Given the description of an element on the screen output the (x, y) to click on. 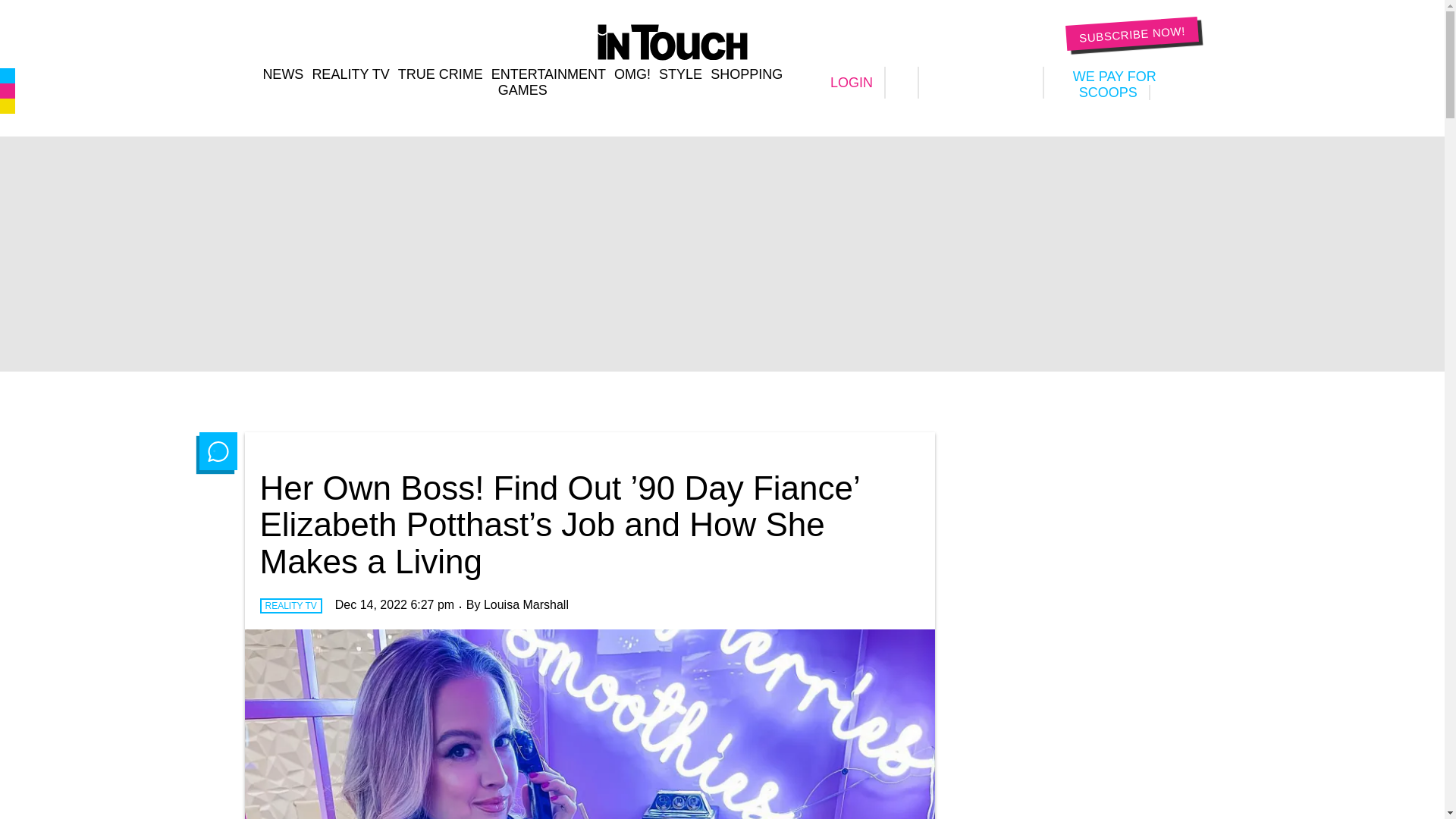
REALITY TV (349, 73)
Posts by Louisa Marshall (526, 604)
TRUE CRIME (440, 73)
NEWS (282, 73)
